Given the description of an element on the screen output the (x, y) to click on. 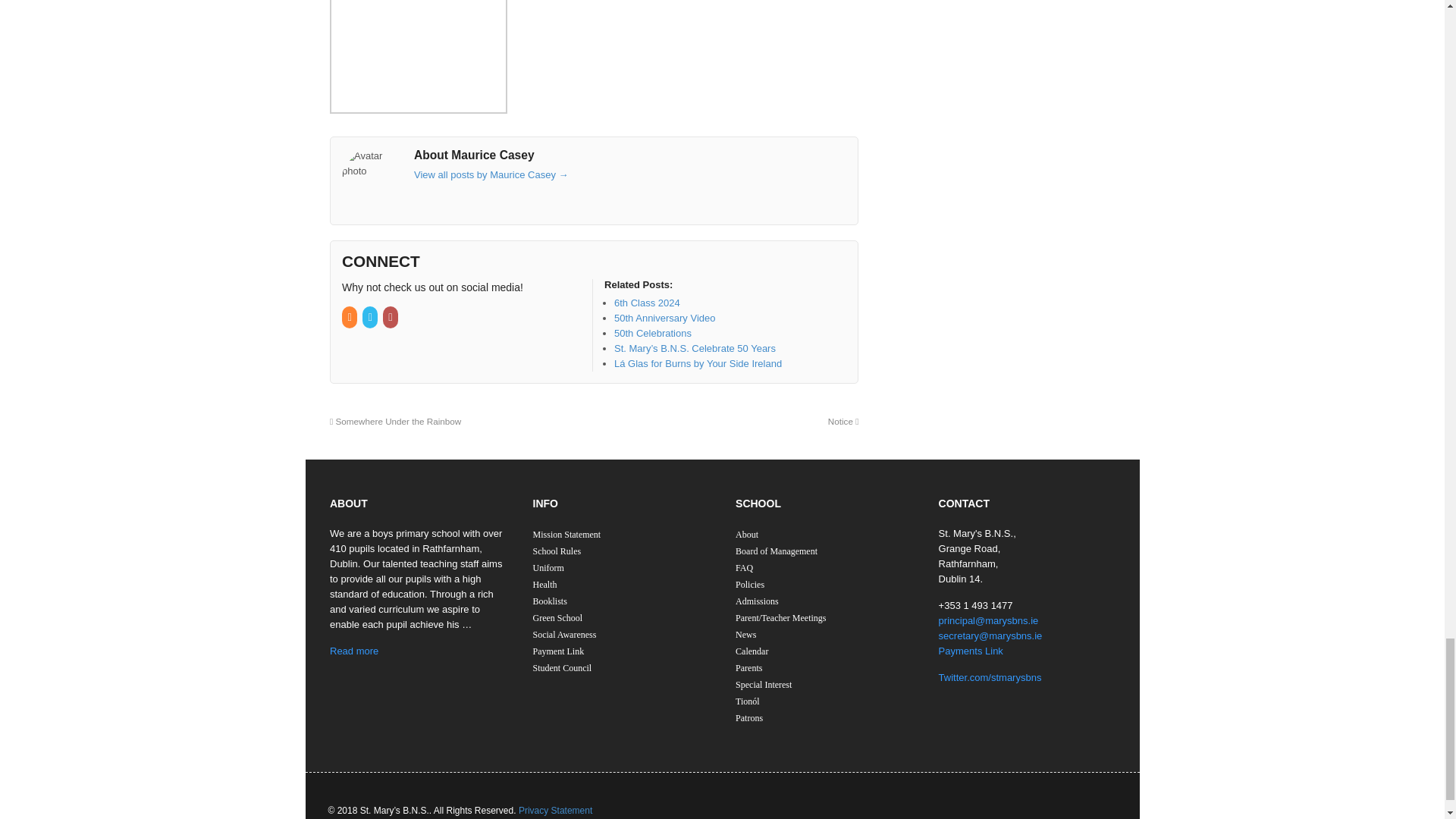
50th Celebrations (652, 333)
RSS (350, 317)
50th Anniversary Video (664, 317)
YouTube (391, 317)
6th Class 2024 (646, 302)
Twitter (371, 317)
